Given the description of an element on the screen output the (x, y) to click on. 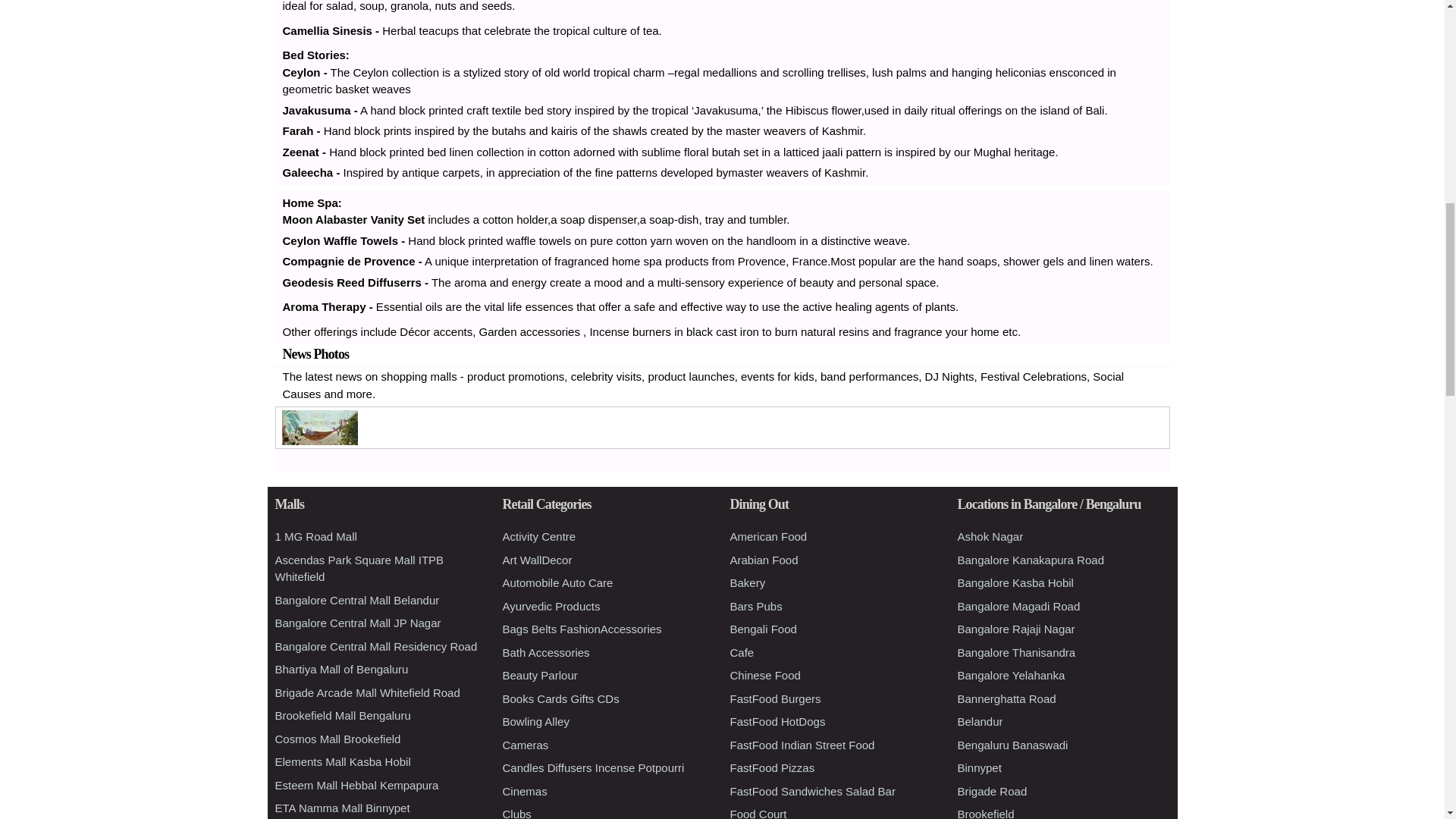
Bangalore Central Mall JP Nagar (358, 622)
Ascendas Park Square Mall ITPB Whitefield (359, 568)
Bhartiya Mall of Bengaluru (341, 668)
Bangalore Central Mall Belandur (357, 599)
1 MG Road Mall (315, 535)
Bangalore Central Mall Residency Road (376, 645)
